Given the description of an element on the screen output the (x, y) to click on. 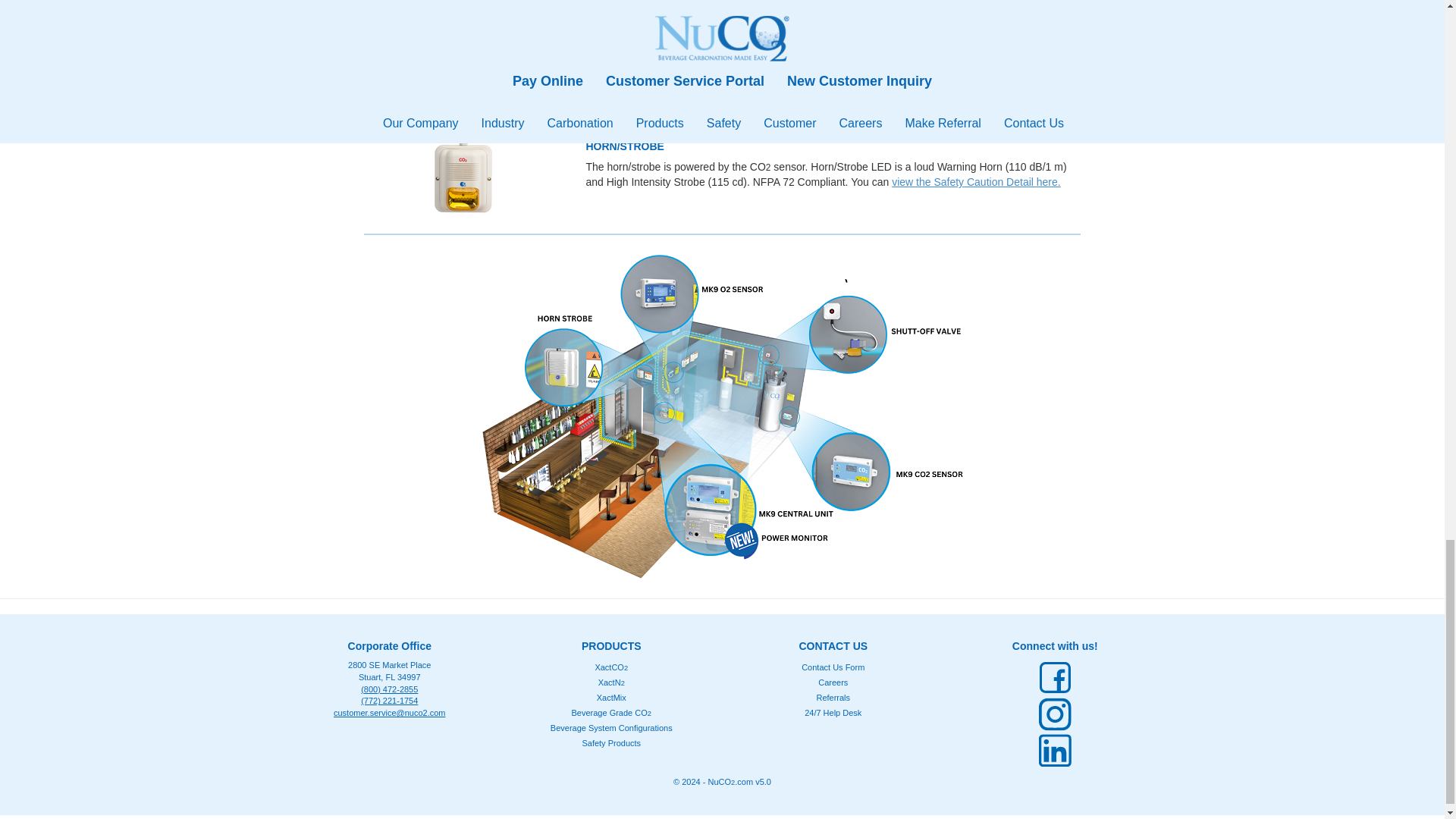
LinkedIn (1054, 750)
Instagram (1054, 714)
Facebook (1054, 678)
